Given the description of an element on the screen output the (x, y) to click on. 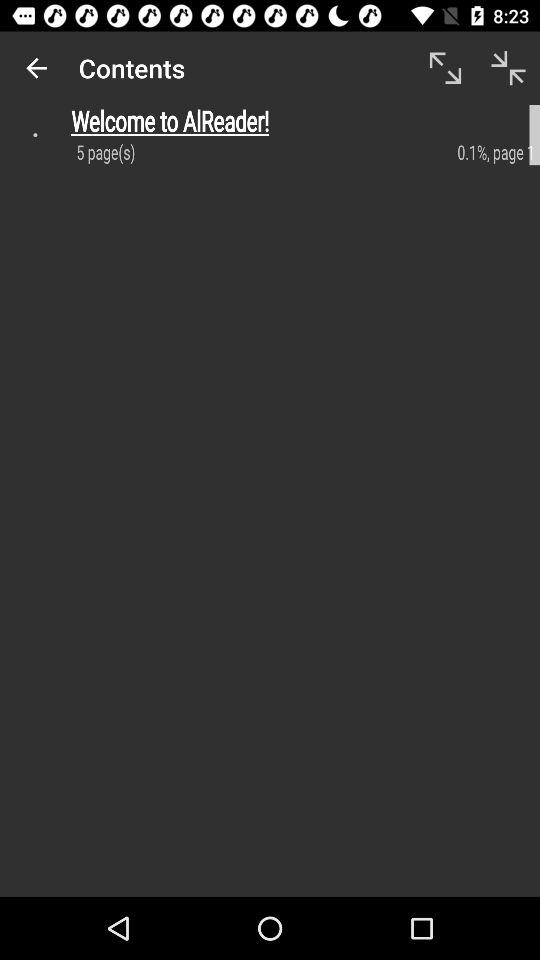
tap app next to the contents app (36, 68)
